Given the description of an element on the screen output the (x, y) to click on. 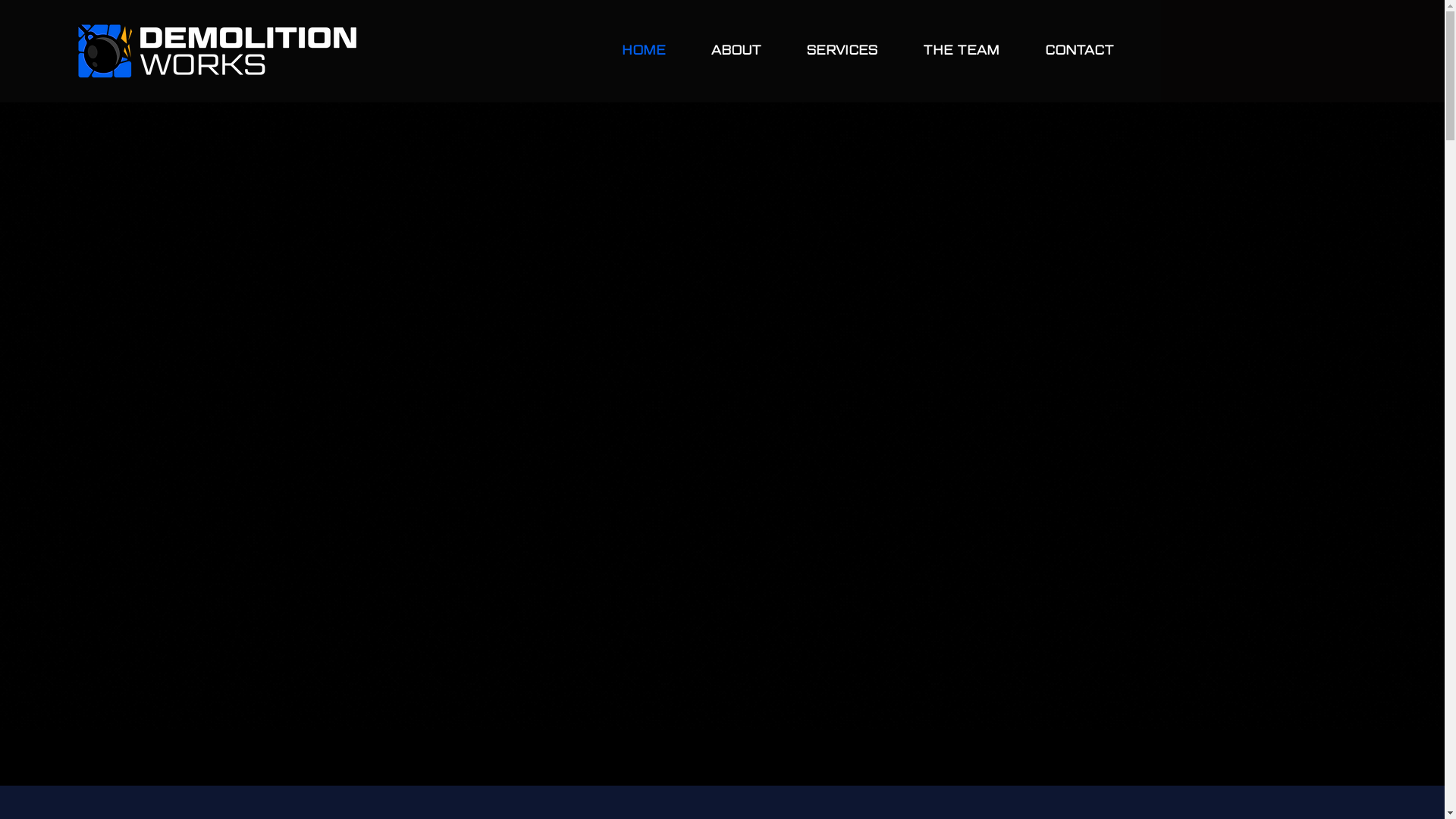
ABOUT Element type: text (736, 50)
THE TEAM Element type: text (961, 50)
HOME Element type: text (643, 50)
CONTACT Element type: text (1078, 50)
Logo.png Element type: hover (217, 50)
SERVICES Element type: text (842, 50)
